Given the description of an element on the screen output the (x, y) to click on. 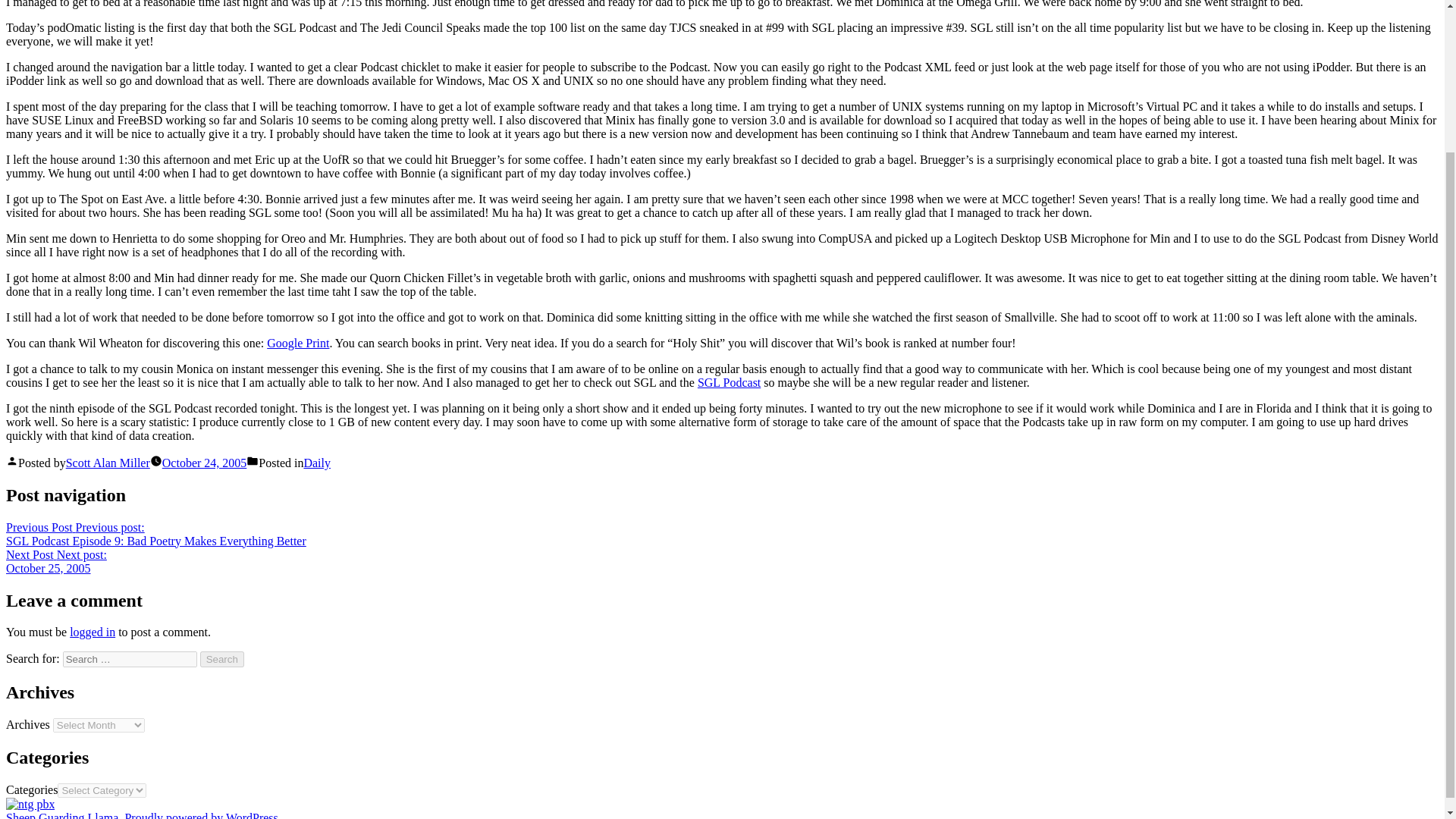
Google Print (297, 342)
SGL Podcast (728, 382)
Search (222, 659)
Scott Alan Miller (107, 462)
Search (222, 659)
Search (222, 659)
October 24, 2005 (204, 462)
Daily (55, 560)
logged in (316, 462)
